Given the description of an element on the screen output the (x, y) to click on. 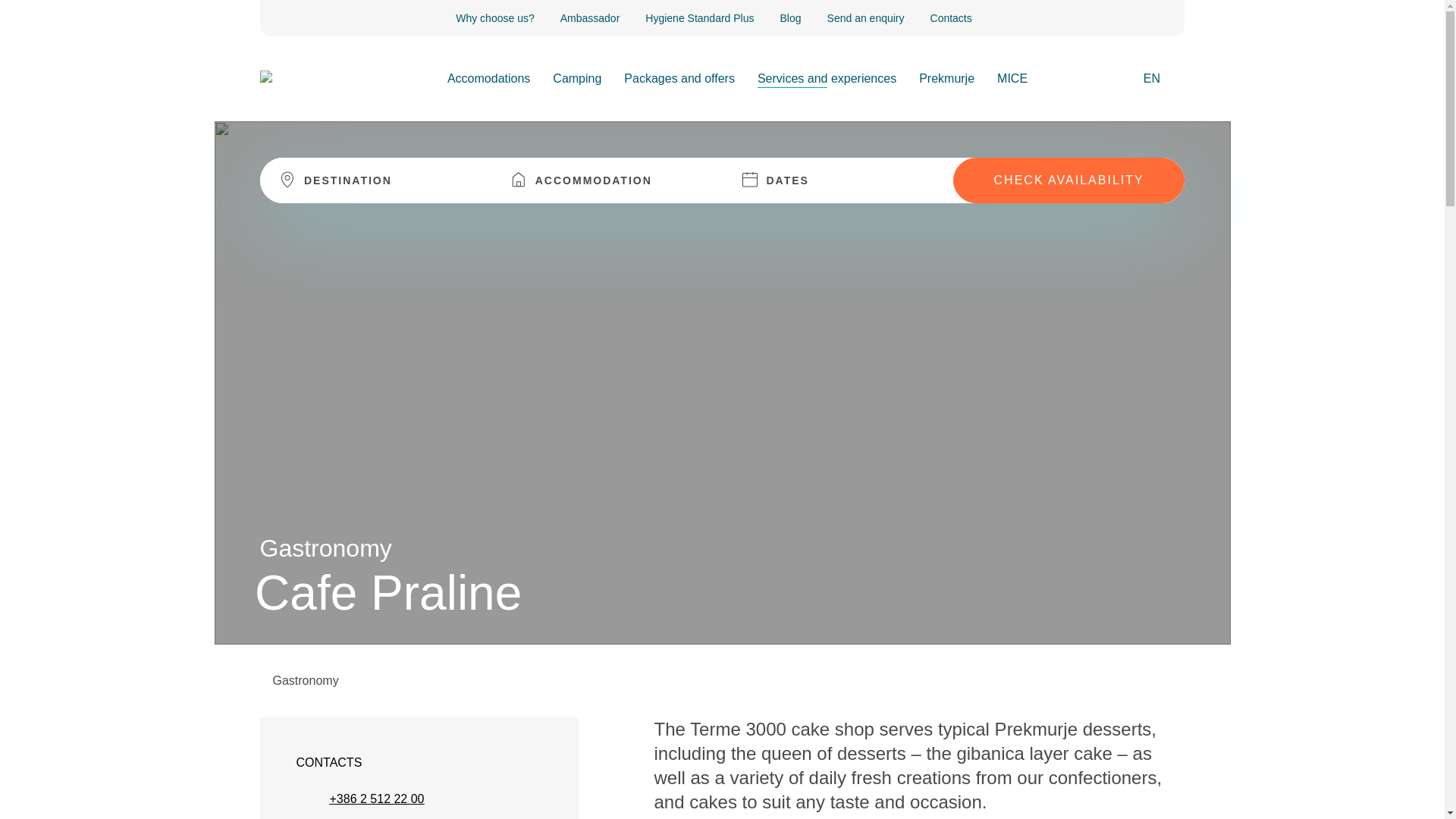
Packages and offers (679, 78)
Why choose us? (494, 18)
Blog (791, 18)
Hygiene Standard Plus (699, 18)
Accomodations (487, 78)
Camping (577, 78)
Prekmurje (946, 78)
EN (1157, 78)
Send an enquiry (865, 18)
MICE (1012, 78)
Contacts (951, 18)
Ambassador (590, 18)
Open search modal window (1118, 79)
Services and experiences (826, 78)
